Given the description of an element on the screen output the (x, y) to click on. 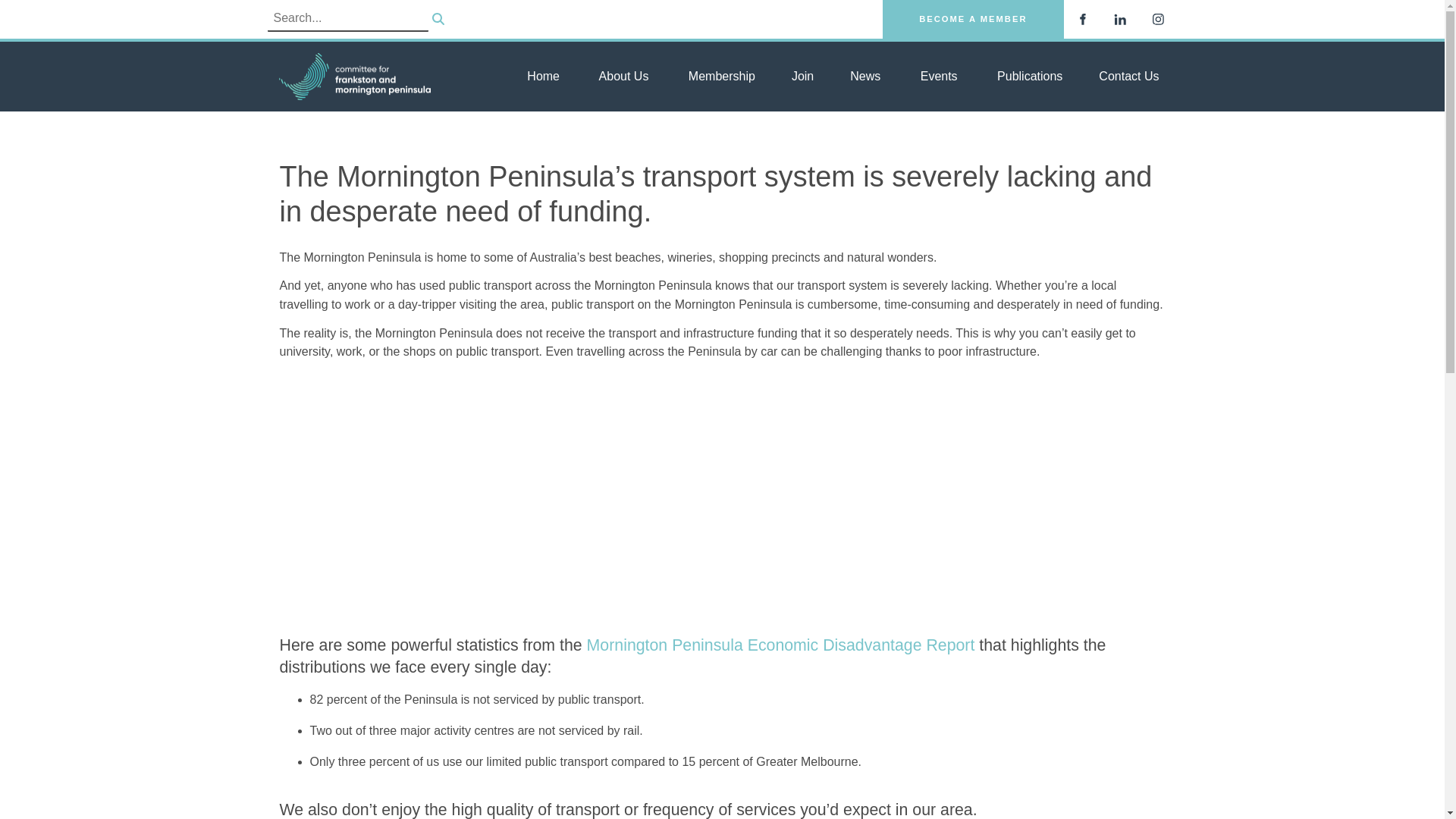
Join (802, 76)
Mornington Peninsula Economic Disadvantage Report (780, 645)
BECOME A MEMBER (972, 19)
Contact Us (1128, 76)
Facebook (1081, 18)
Events (936, 76)
About Us (622, 76)
Instagram (1157, 18)
Home (543, 76)
Publications (1028, 76)
Membership (719, 76)
News (864, 76)
LinkedIn (1119, 18)
